Given the description of an element on the screen output the (x, y) to click on. 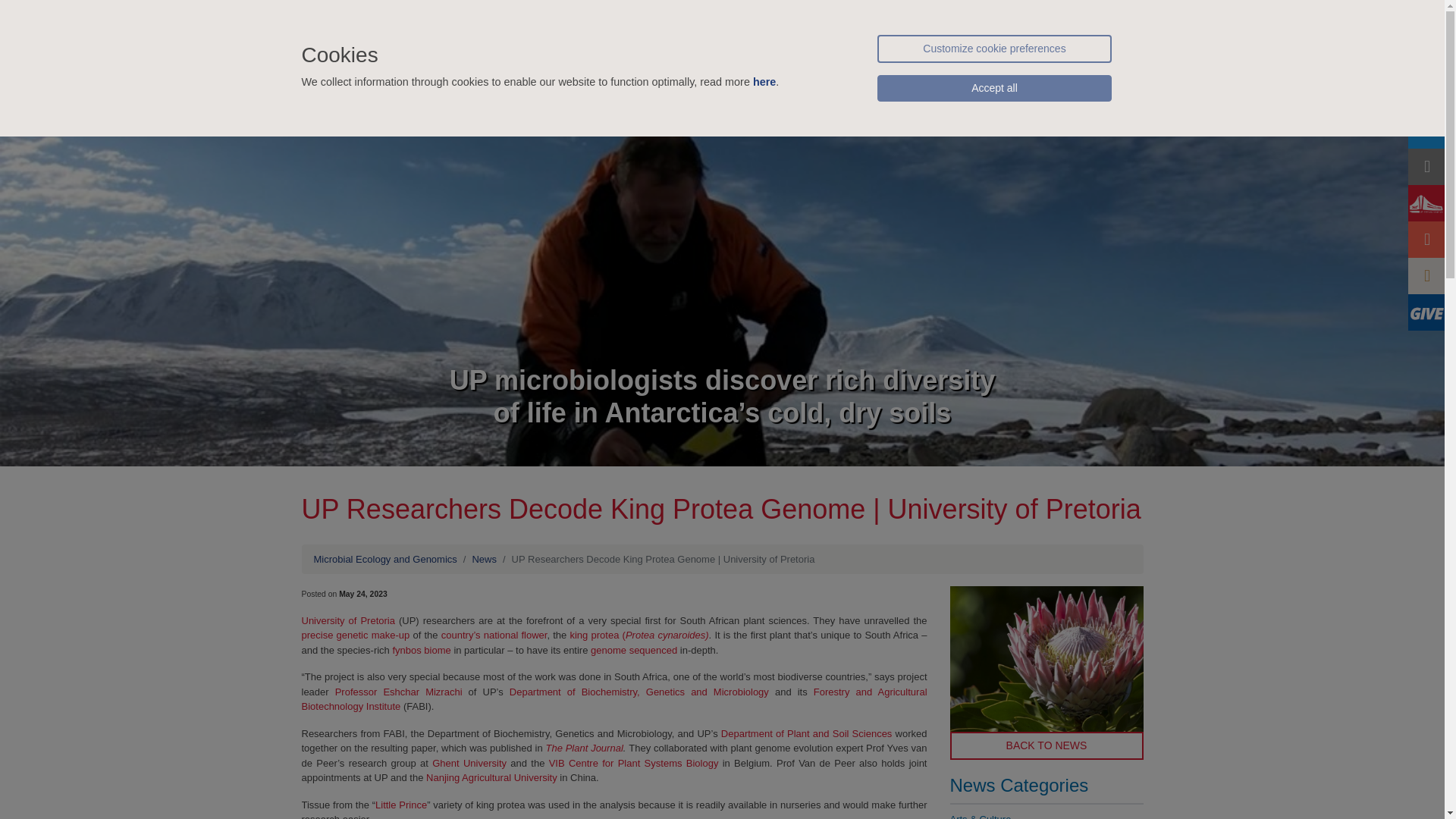
Customize cookie preferences (994, 49)
here (764, 81)
Accept all (994, 88)
